Given the description of an element on the screen output the (x, y) to click on. 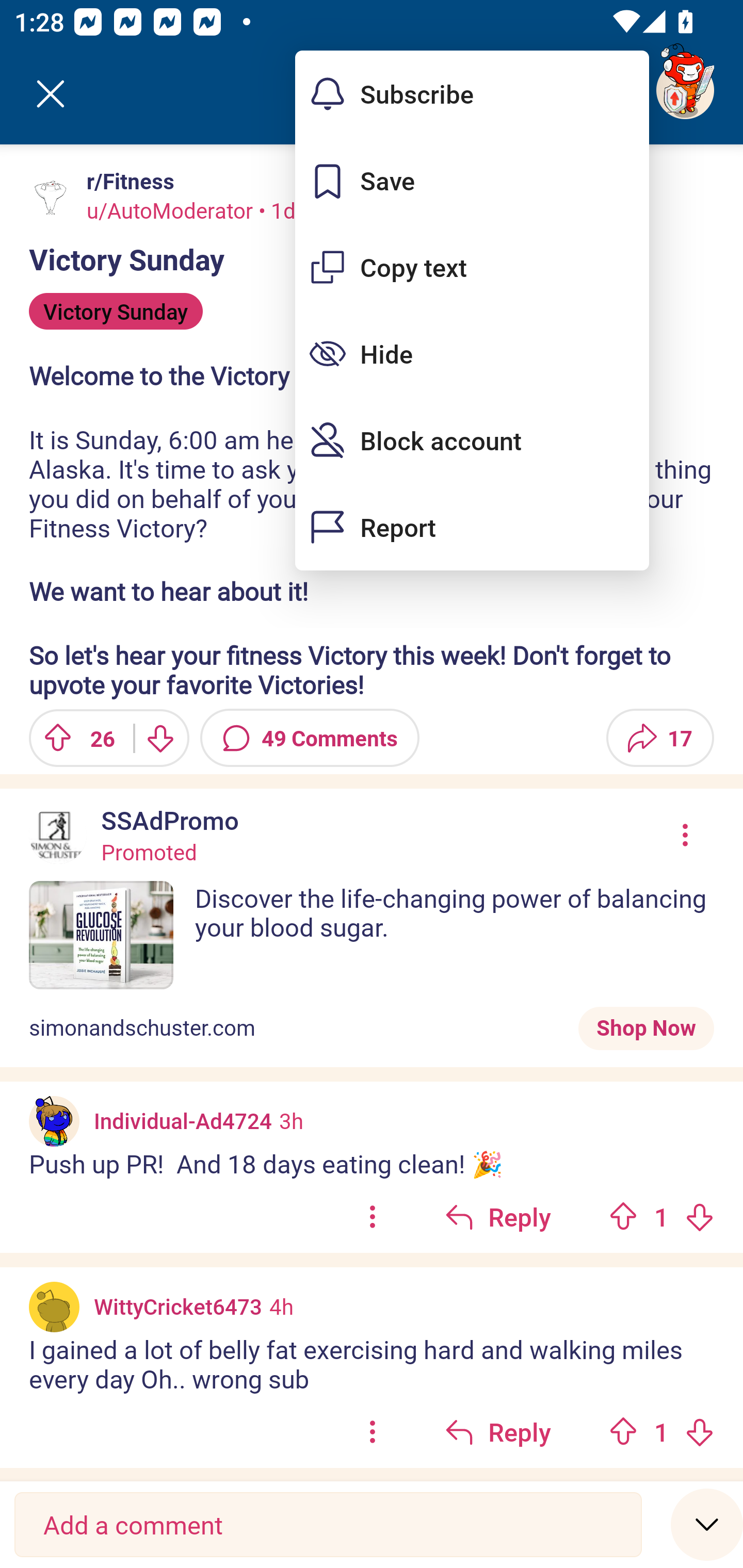
Subscribe (471, 93)
Save (471, 180)
Copy text (471, 267)
Hide (471, 353)
Block account (471, 440)
Report (471, 527)
